Given the description of an element on the screen output the (x, y) to click on. 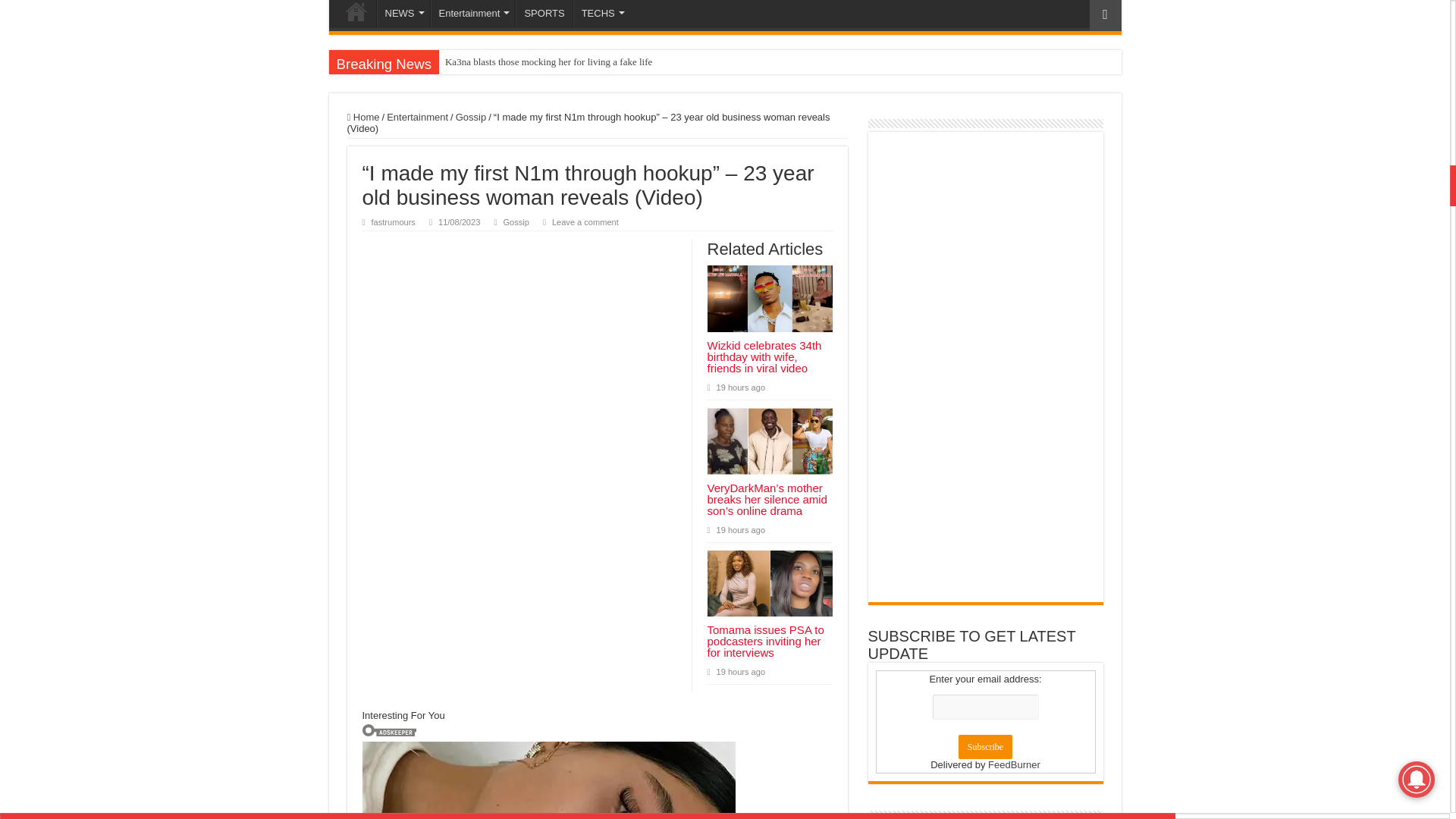
HOME (355, 13)
Entertainment (472, 13)
Subscribe (984, 746)
SPORTS (543, 13)
TECHS (601, 13)
NEWS (402, 13)
